Given the description of an element on the screen output the (x, y) to click on. 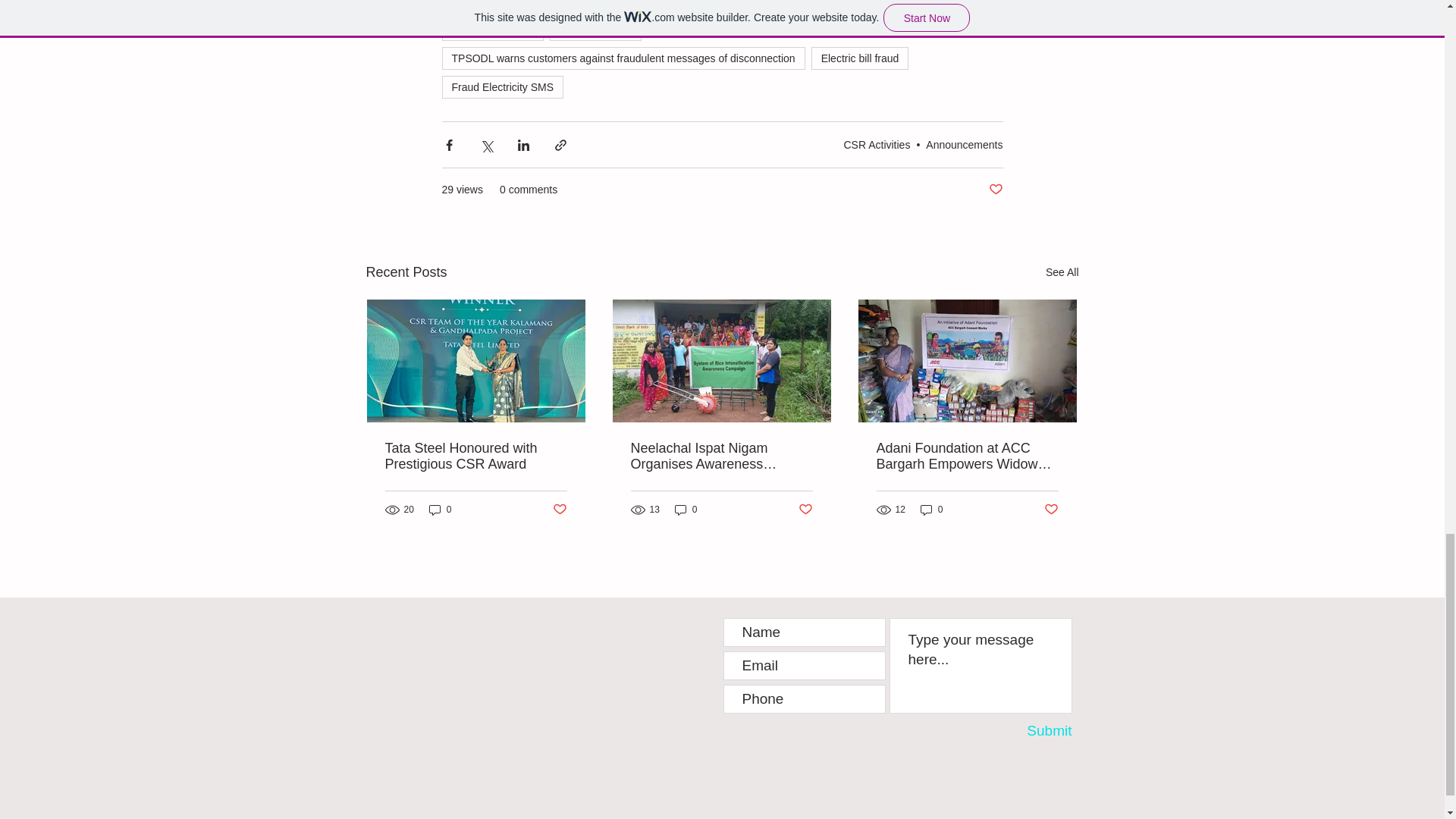
0 (440, 509)
Biz Industry news (885, 6)
TPSODL News (595, 29)
Tata Steel Honoured with Prestigious CSR Award (476, 456)
CSR news (476, 6)
Electric bill fraud (859, 57)
Financial Results (568, 6)
Tata Power News (492, 29)
Announcements (964, 144)
